Given the description of an element on the screen output the (x, y) to click on. 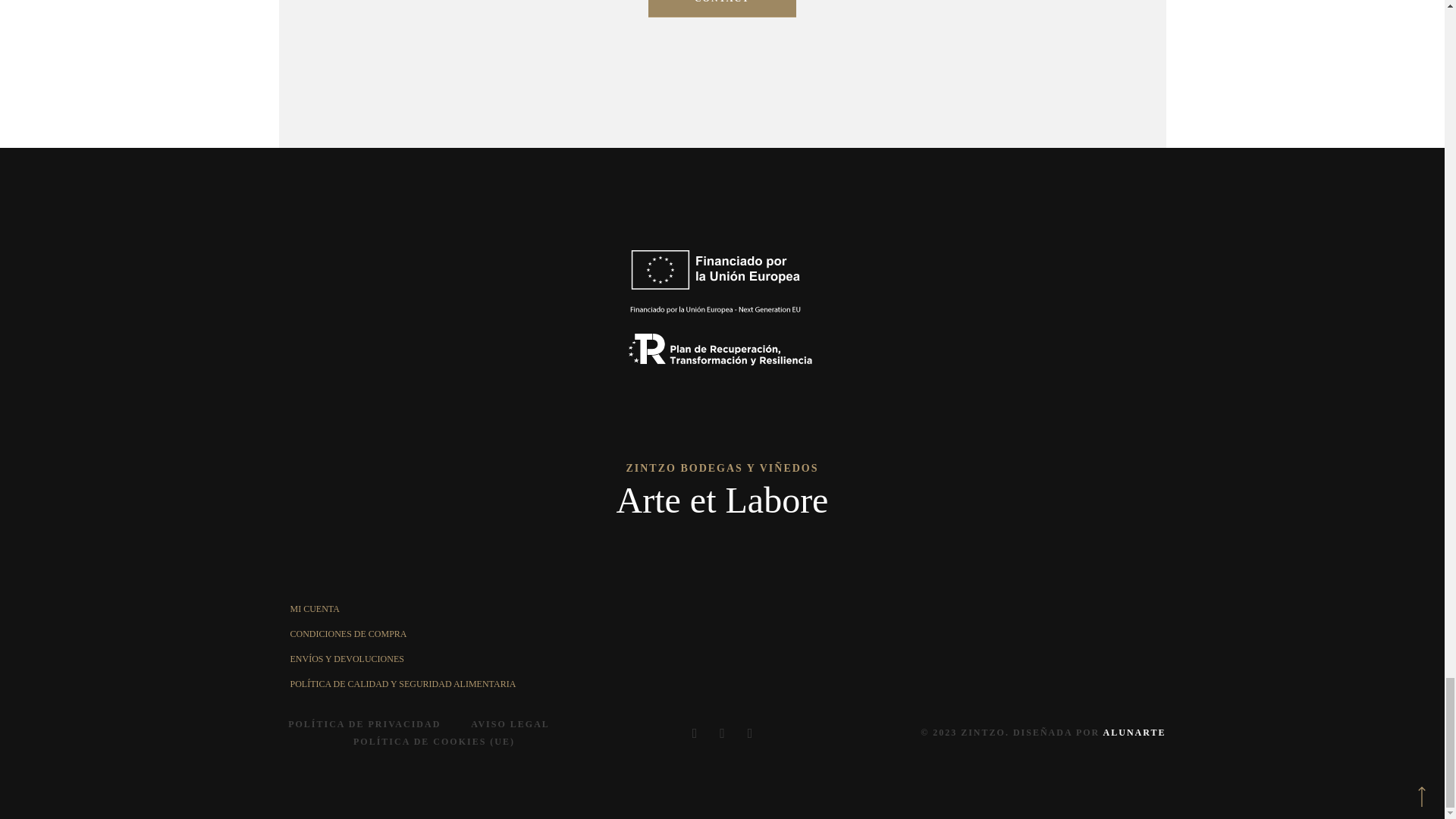
AVISO LEGAL (509, 724)
CONDICIONES DE COMPRA (347, 633)
ALUNARTE (1134, 732)
MI CUENTA (314, 608)
CONTACT (721, 8)
